Given the description of an element on the screen output the (x, y) to click on. 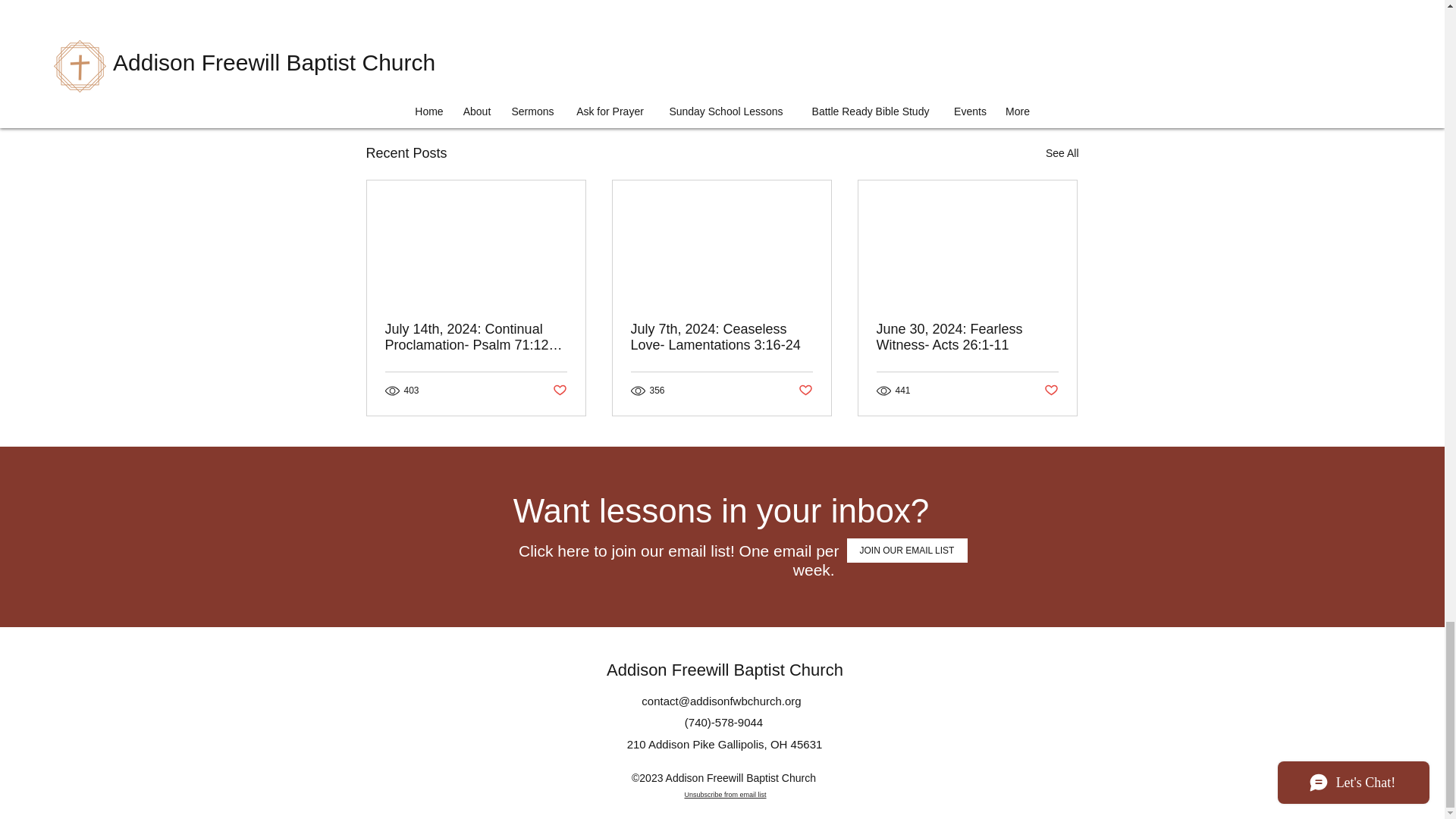
See All (990, 70)
July 14th, 2024: Continual Proclamation- Psalm 71:12-21 (1061, 153)
